Given the description of an element on the screen output the (x, y) to click on. 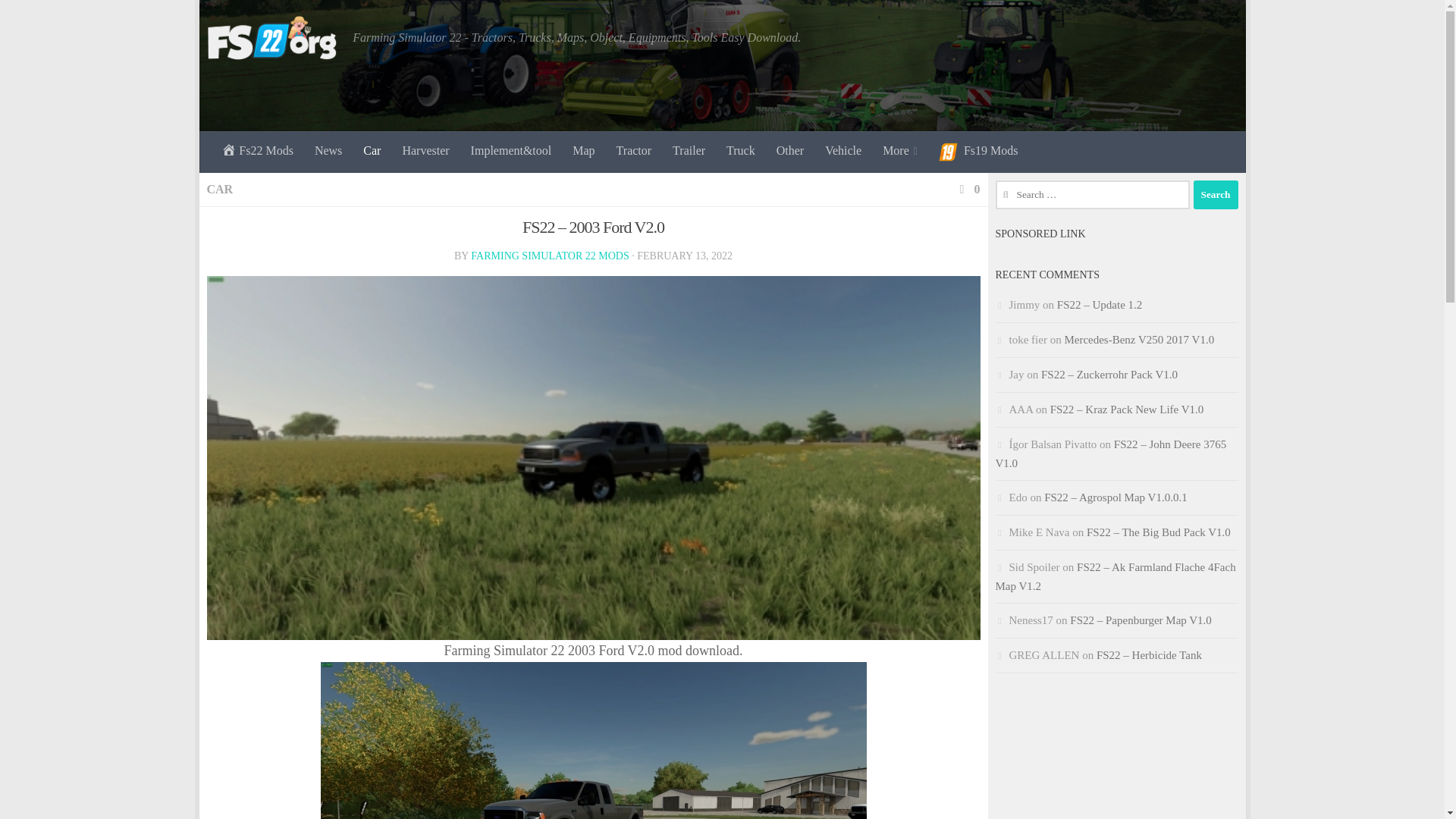
Fs22 Mods (257, 150)
Harvester (425, 150)
More (900, 150)
Truck (740, 150)
Vehicle (842, 150)
Car (371, 150)
Posts by Farming Simulator 22 Mods (549, 255)
Other (789, 150)
Skip to content (258, 20)
News (328, 150)
Search (1216, 194)
Search (1216, 194)
Tractor (633, 150)
Trailer (689, 150)
Map (583, 150)
